Given the description of an element on the screen output the (x, y) to click on. 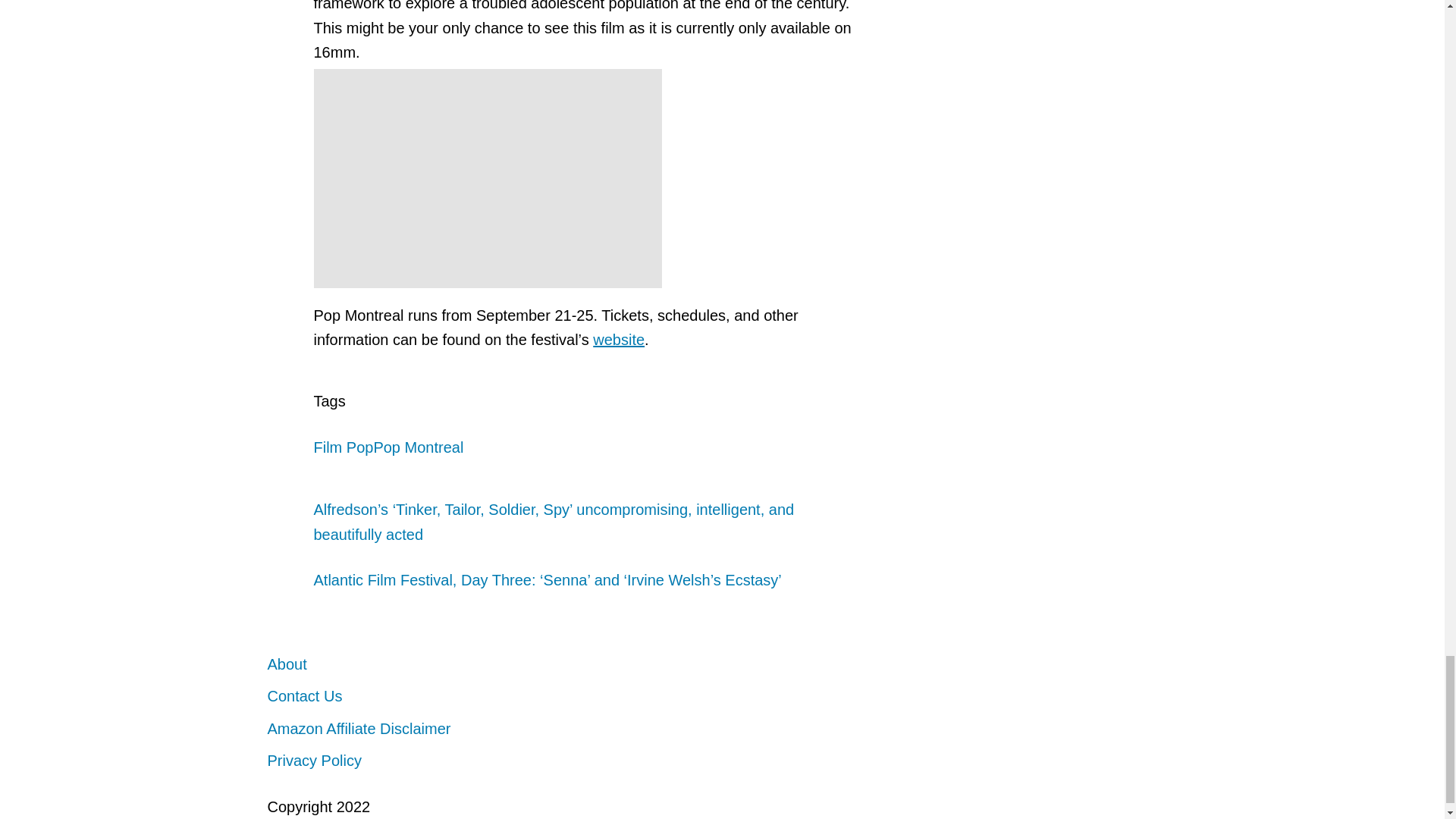
Pop Montreal (417, 446)
website (618, 339)
Film Pop (344, 446)
